Given the description of an element on the screen output the (x, y) to click on. 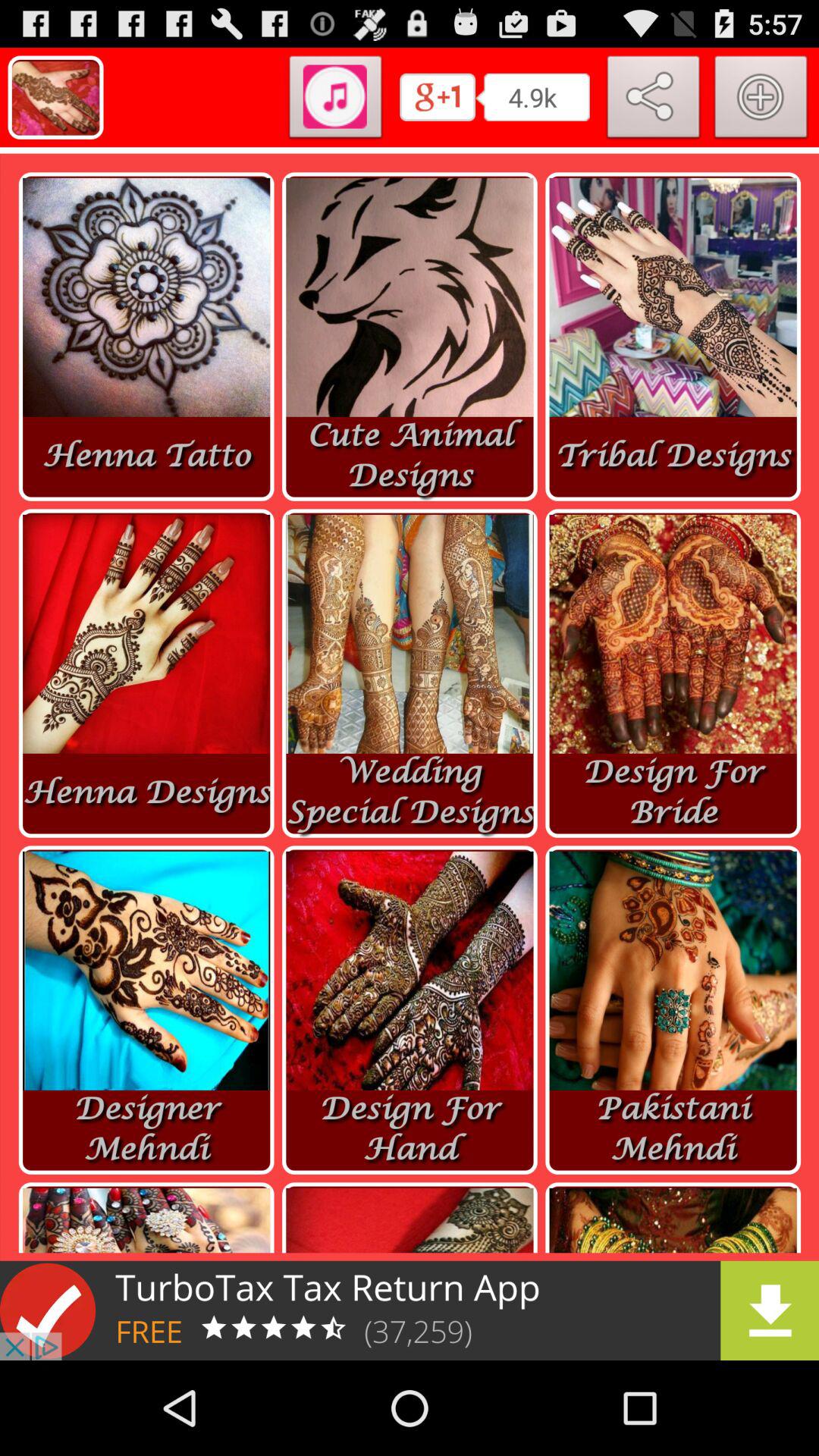
select button (761, 100)
